Given the description of an element on the screen output the (x, y) to click on. 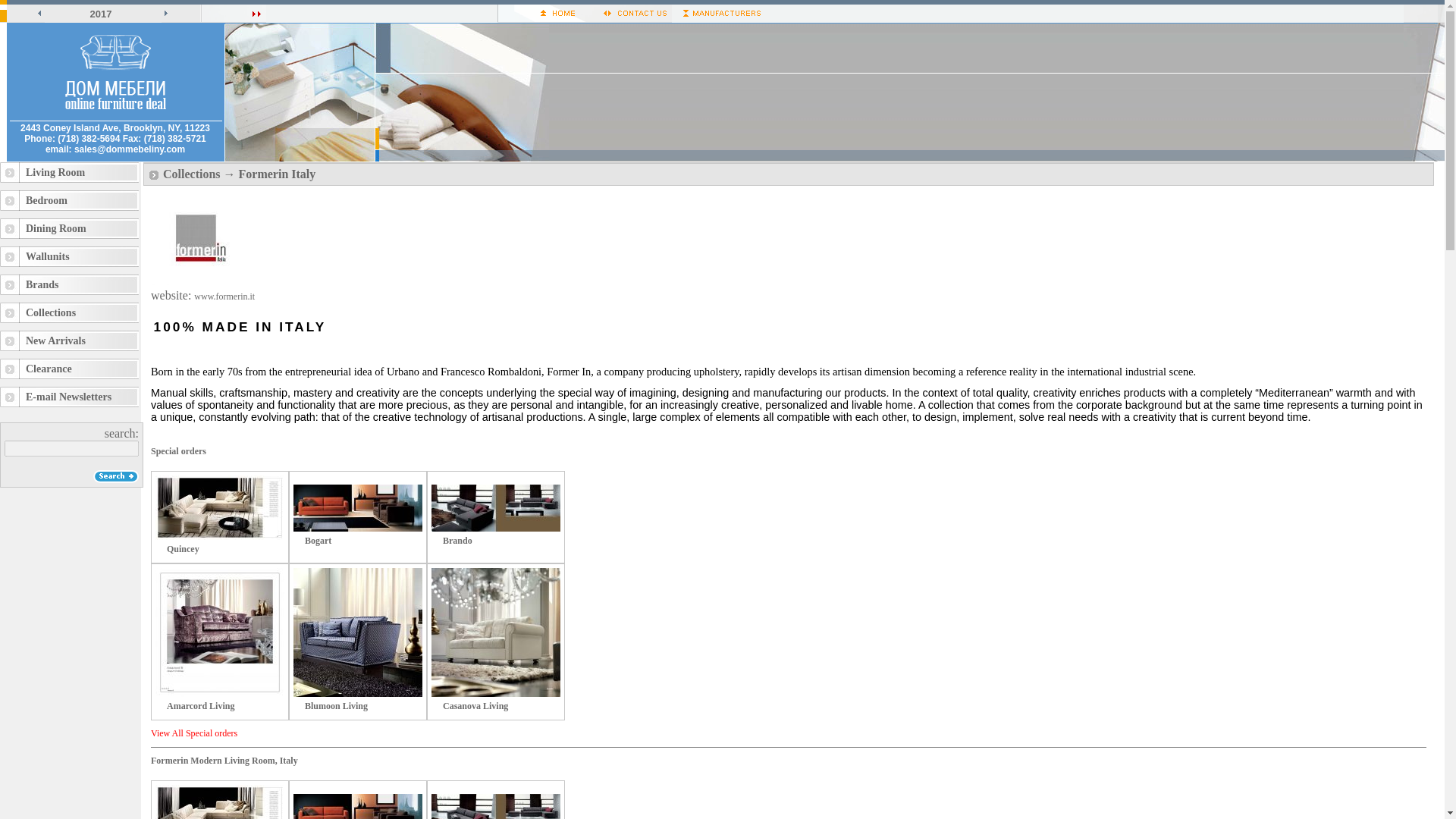
Living Room (69, 172)
Bedroom (69, 200)
Dining Room (69, 228)
